Given the description of an element on the screen output the (x, y) to click on. 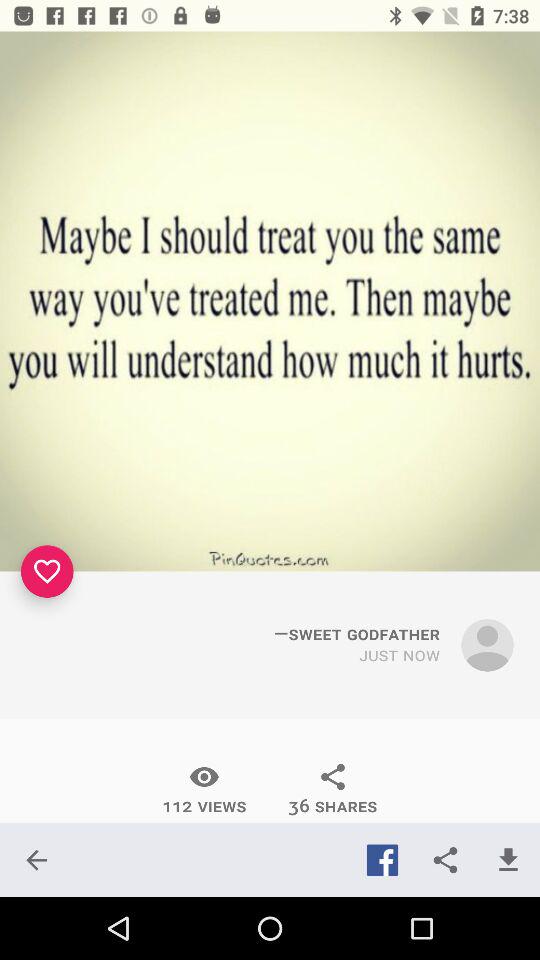
the text means quotation (270, 301)
